Given the description of an element on the screen output the (x, y) to click on. 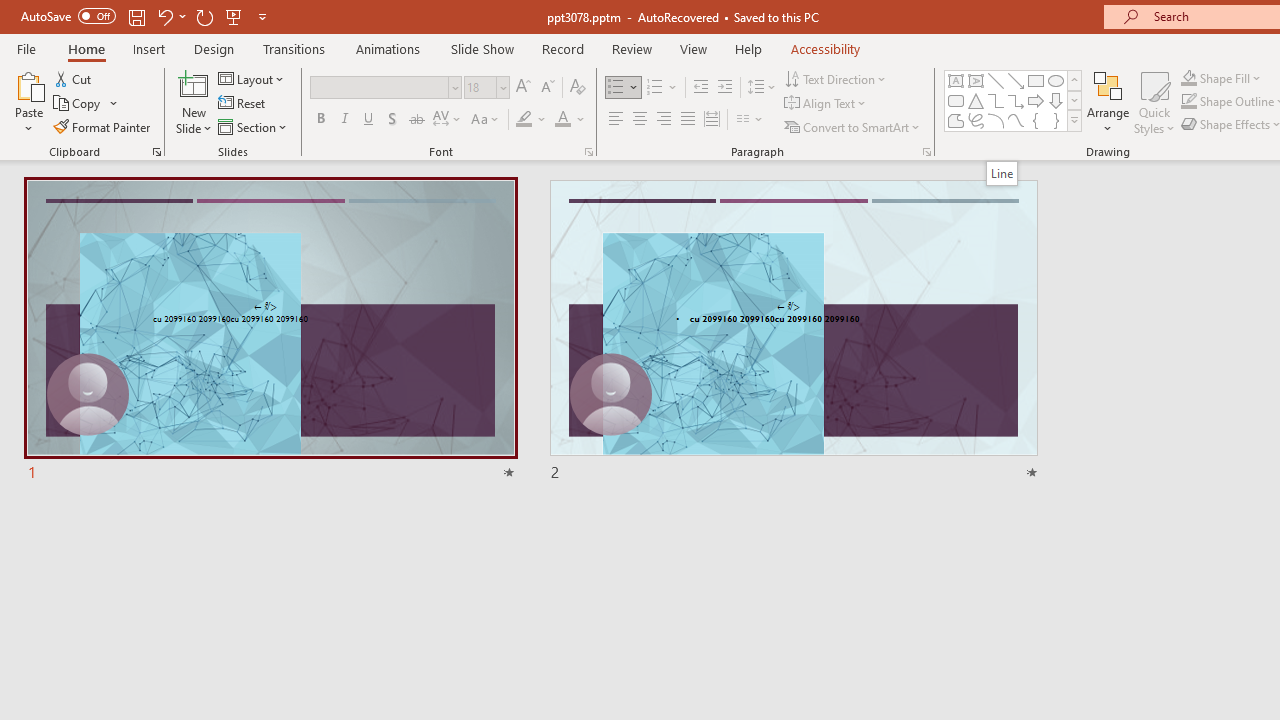
Line (995, 80)
Font Color Red (562, 119)
Connector: Elbow (995, 100)
Arc (995, 120)
Font Color (569, 119)
Cut (73, 78)
Change Case (486, 119)
Align Right (663, 119)
